Given the description of an element on the screen output the (x, y) to click on. 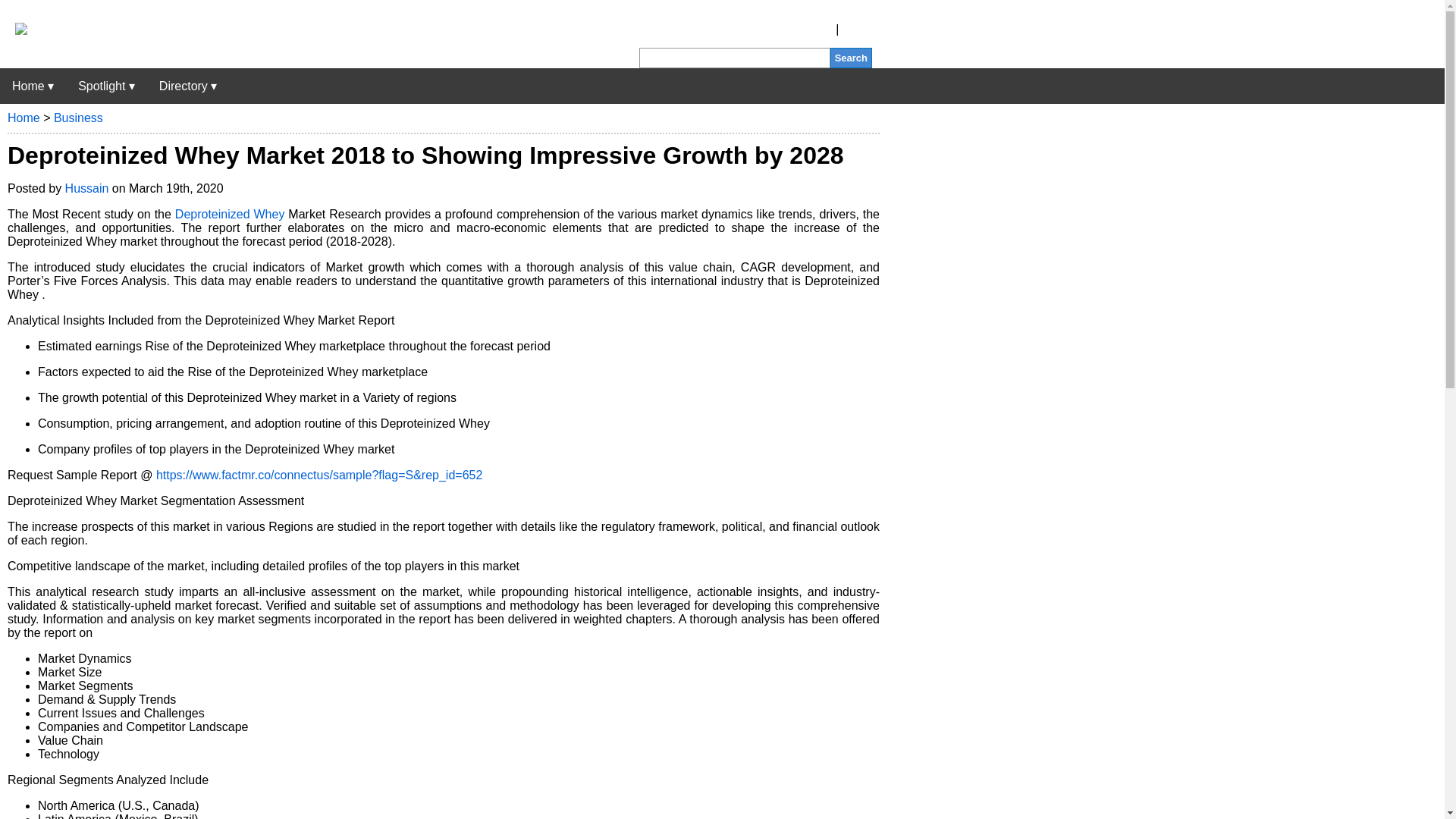
Login (857, 29)
Uberant (13, 30)
Register (809, 29)
Uberant (32, 85)
Search (850, 57)
Search (850, 57)
